Given the description of an element on the screen output the (x, y) to click on. 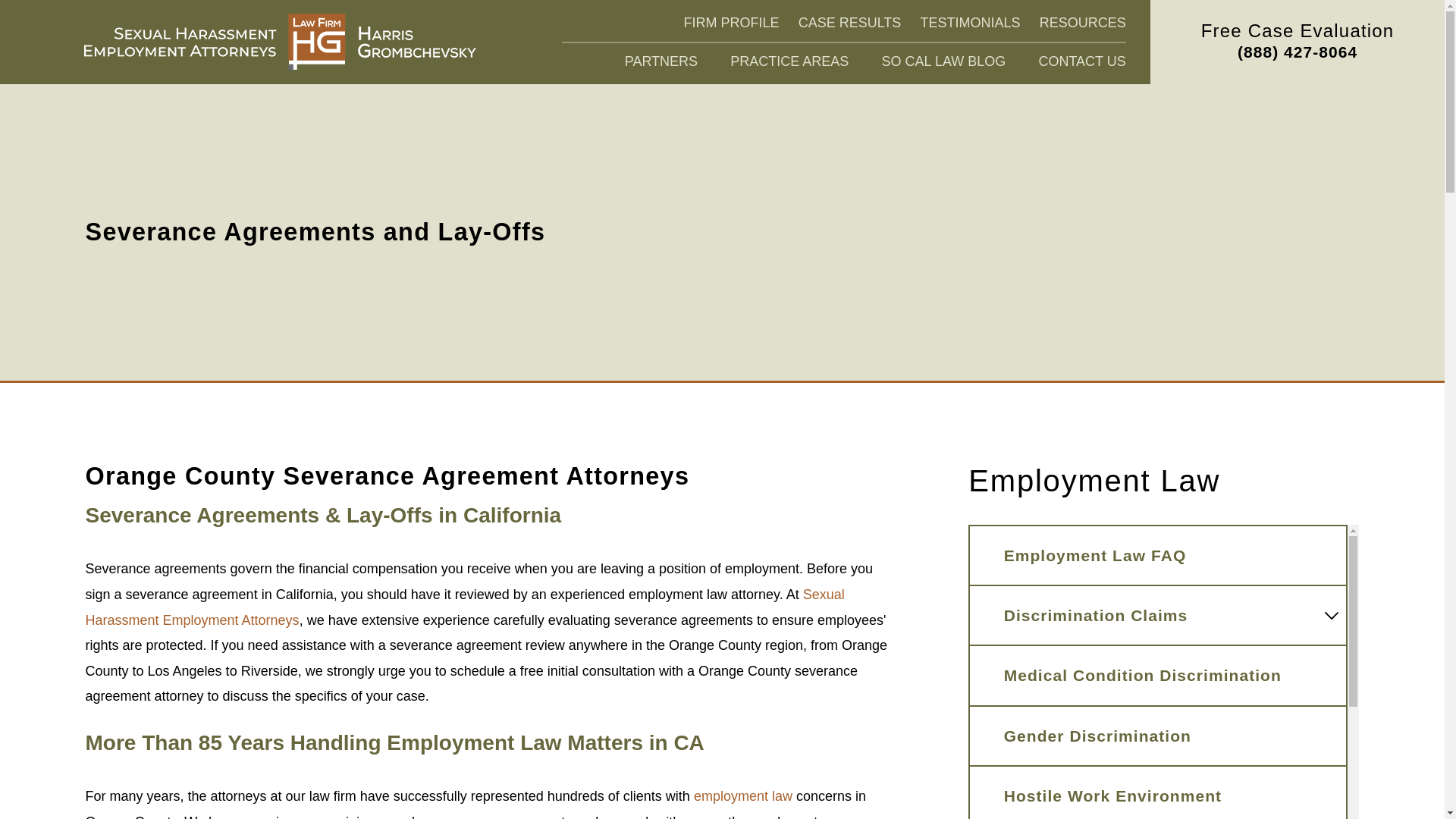
TESTIMONIALS (970, 22)
SO CAL LAW BLOG (944, 62)
Sexual Harassment Employment Attorneys (280, 41)
CASE RESULTS (849, 22)
RESOURCES (1082, 22)
PARTNERS (660, 62)
Open child menu of Discrimination Claims (1331, 615)
PRACTICE AREAS (789, 62)
FIRM PROFILE (730, 22)
Open the accessibility options menu (1412, 786)
